Given the description of an element on the screen output the (x, y) to click on. 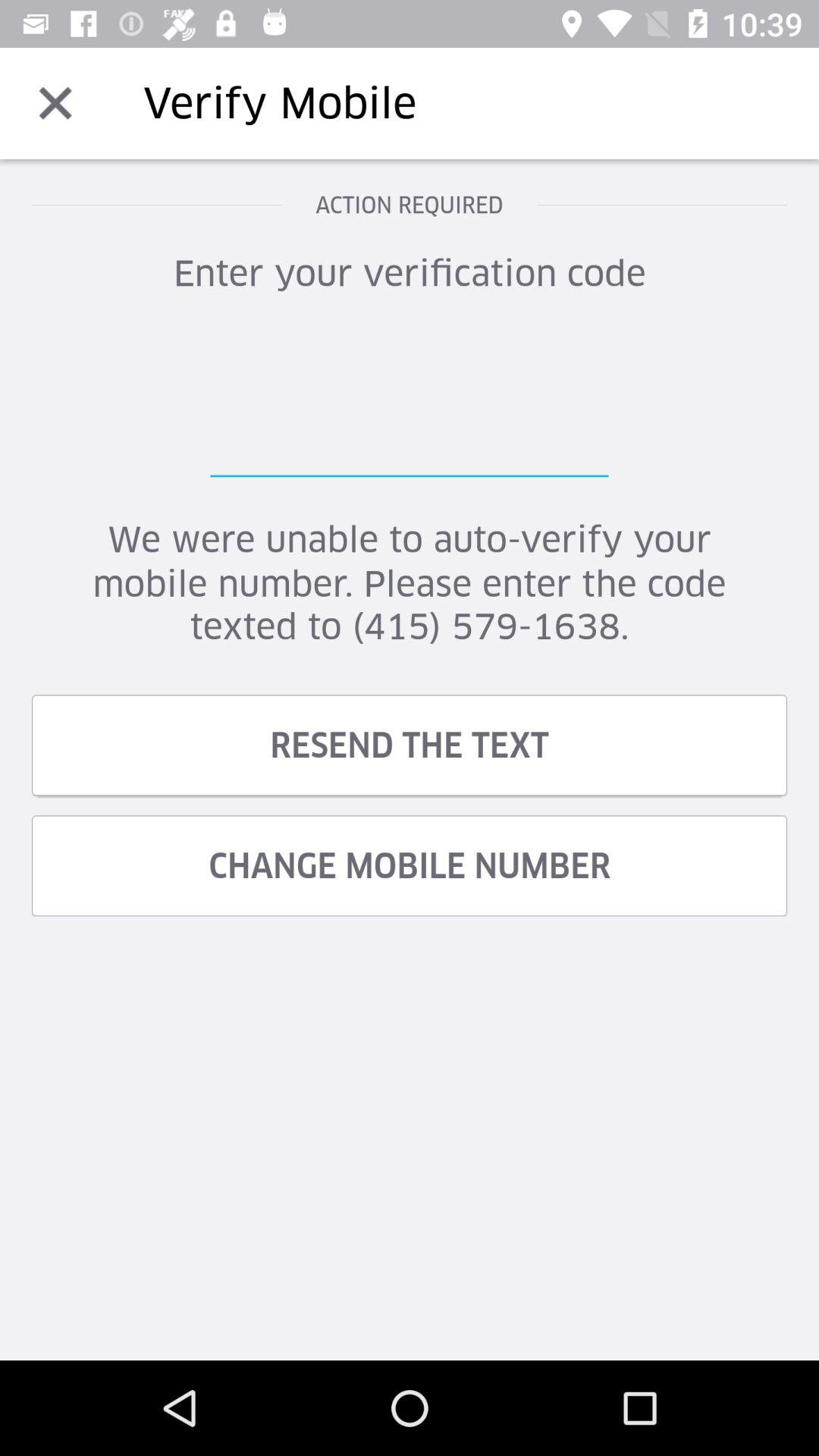
verification code bar (409, 401)
